Given the description of an element on the screen output the (x, y) to click on. 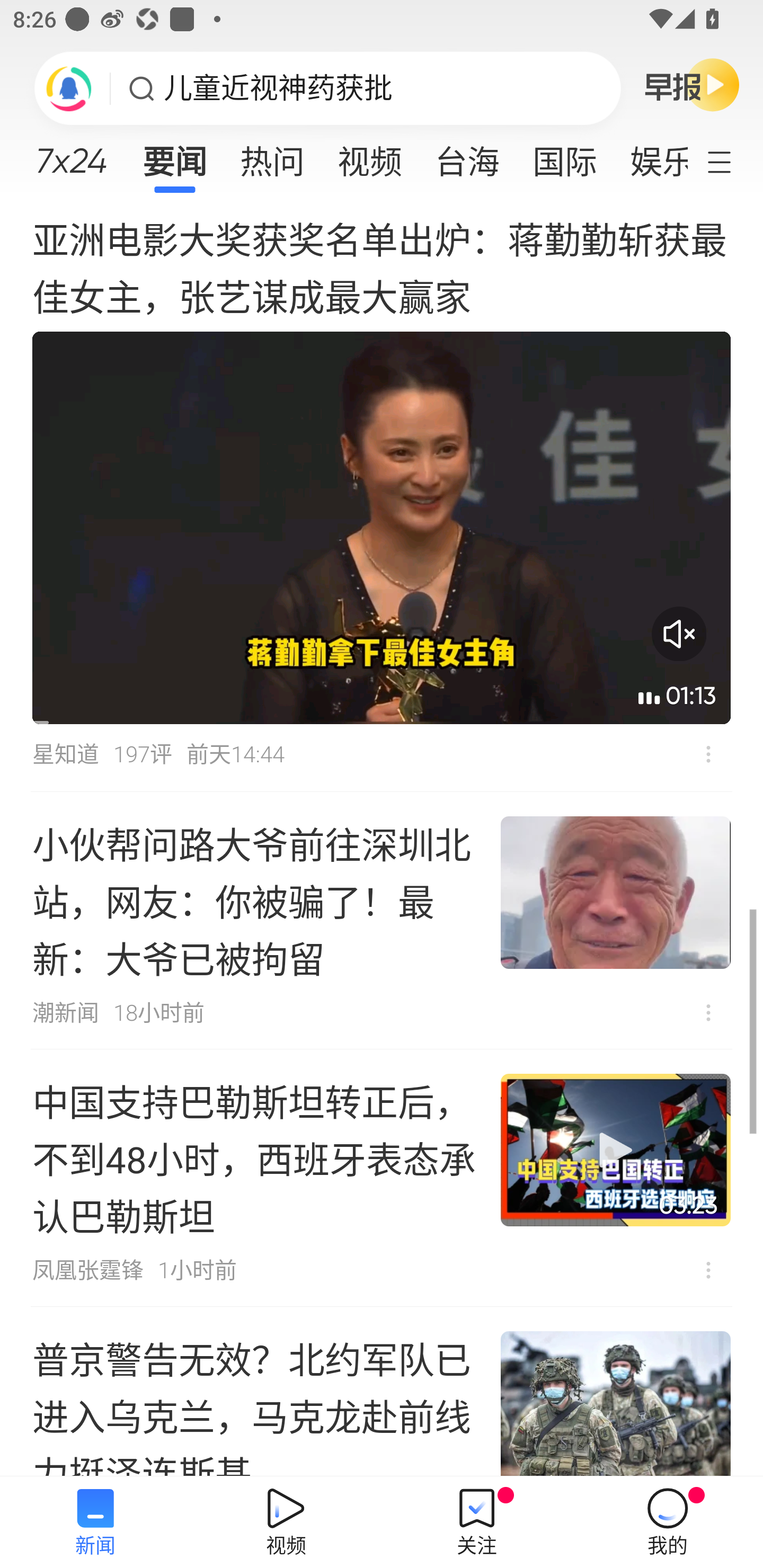
早晚报 (691, 84)
刷新 (68, 88)
儿童近视神药获批 (278, 88)
7x24 (70, 154)
要闻 (174, 155)
热问 (272, 155)
视频 (369, 155)
台海 (466, 155)
国际 (564, 155)
娱乐 (650, 155)
 定制频道 (731, 160)
音量开关 (678, 633)
 不感兴趣 (707, 754)
小伙帮问路大爷前往深圳北站，网友：你被骗了！最新：大爷已被拘留 潮新闻 18小时前  不感兴趣 (381, 919)
 不感兴趣 (707, 1012)
 不感兴趣 (707, 1270)
普京警告无效？北约军队已进入乌克兰，马克龙赴前线力挺泽连斯基 (381, 1391)
